Given the description of an element on the screen output the (x, y) to click on. 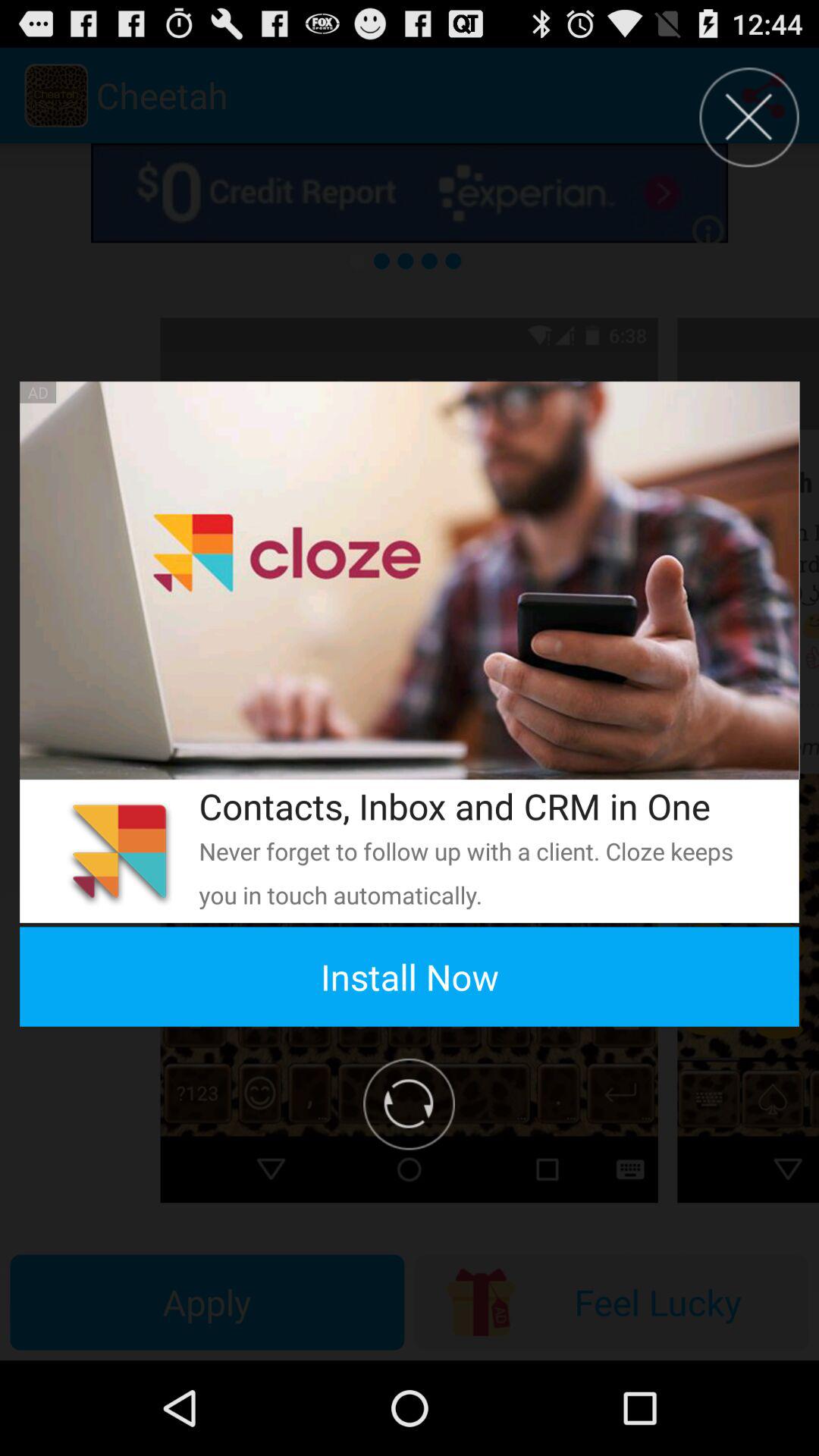
open the icon below never forget to item (409, 976)
